Given the description of an element on the screen output the (x, y) to click on. 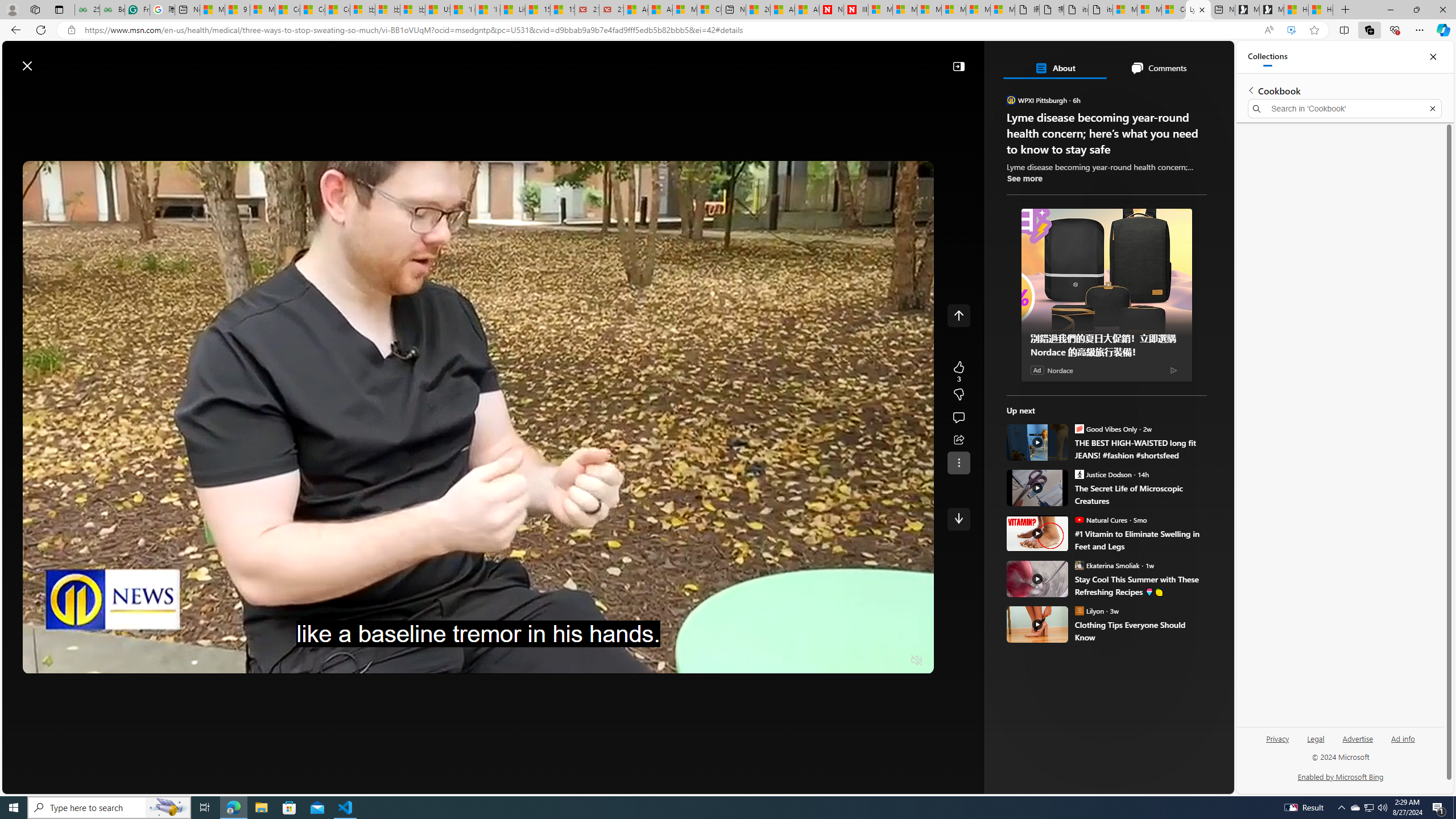
Watch (307, 92)
Fullscreen (895, 660)
Pause (39, 660)
Start the conversation (958, 417)
Natural Cures (1079, 519)
15 Ways Modern Life Contradicts the Teachings of Jesus (562, 9)
Legal (1315, 738)
Skip to content (49, 59)
